Given the description of an element on the screen output the (x, y) to click on. 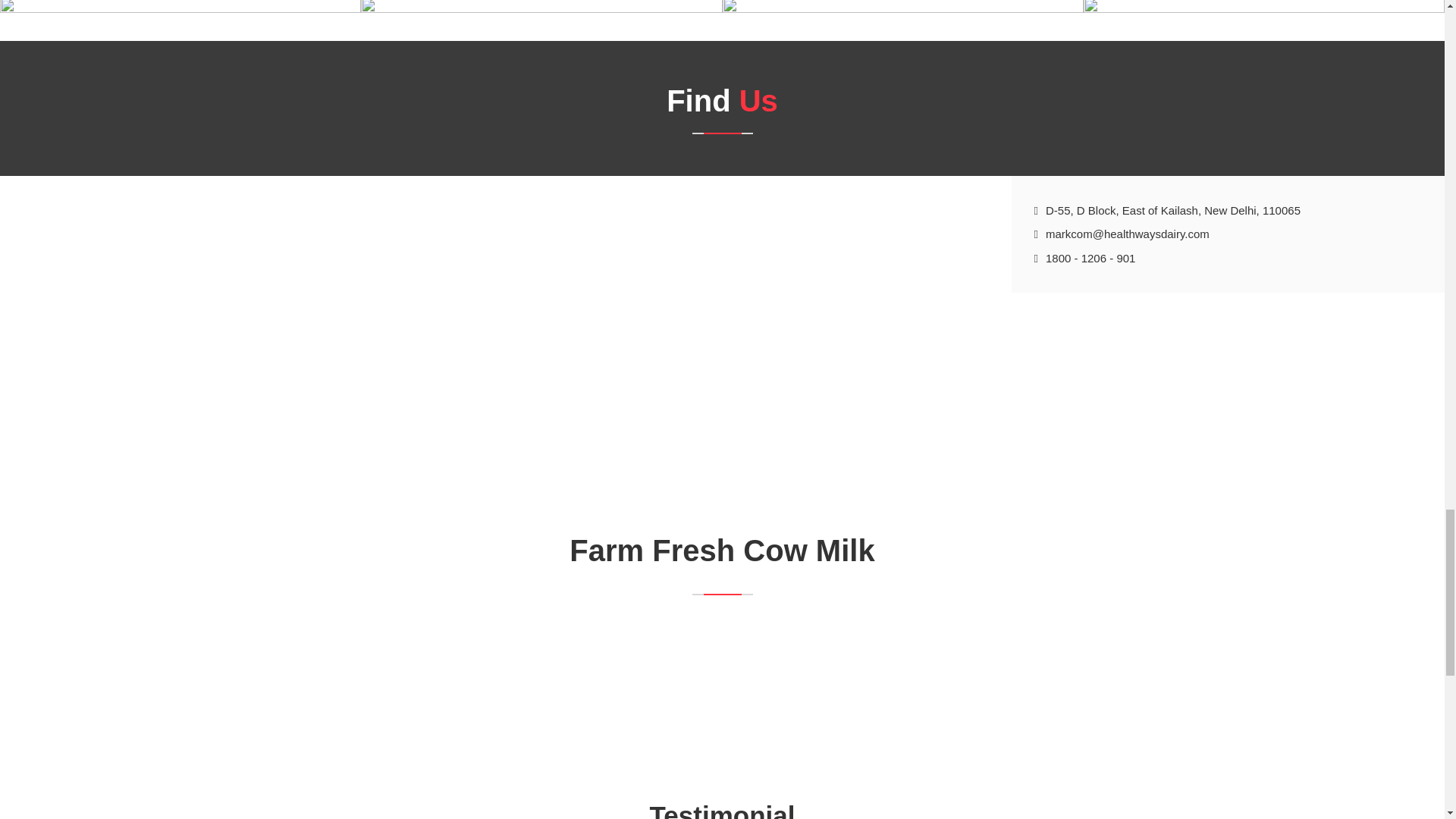
ITALIAN ZERO SOUP (702, 18)
TOMATO SALSA DIP (1063, 18)
